Given the description of an element on the screen output the (x, y) to click on. 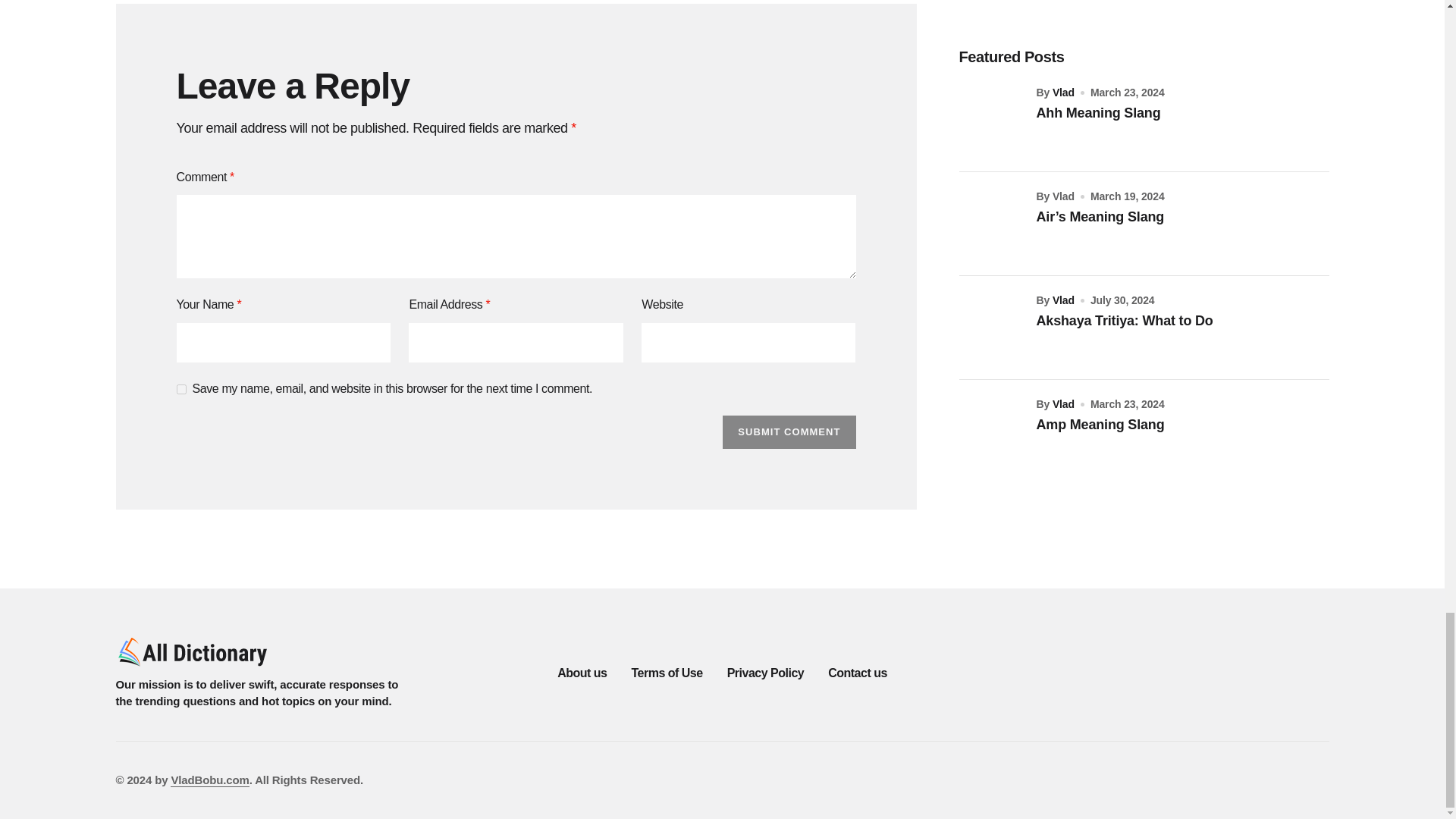
yes (181, 388)
SUBMIT COMMENT (789, 431)
